Given the description of an element on the screen output the (x, y) to click on. 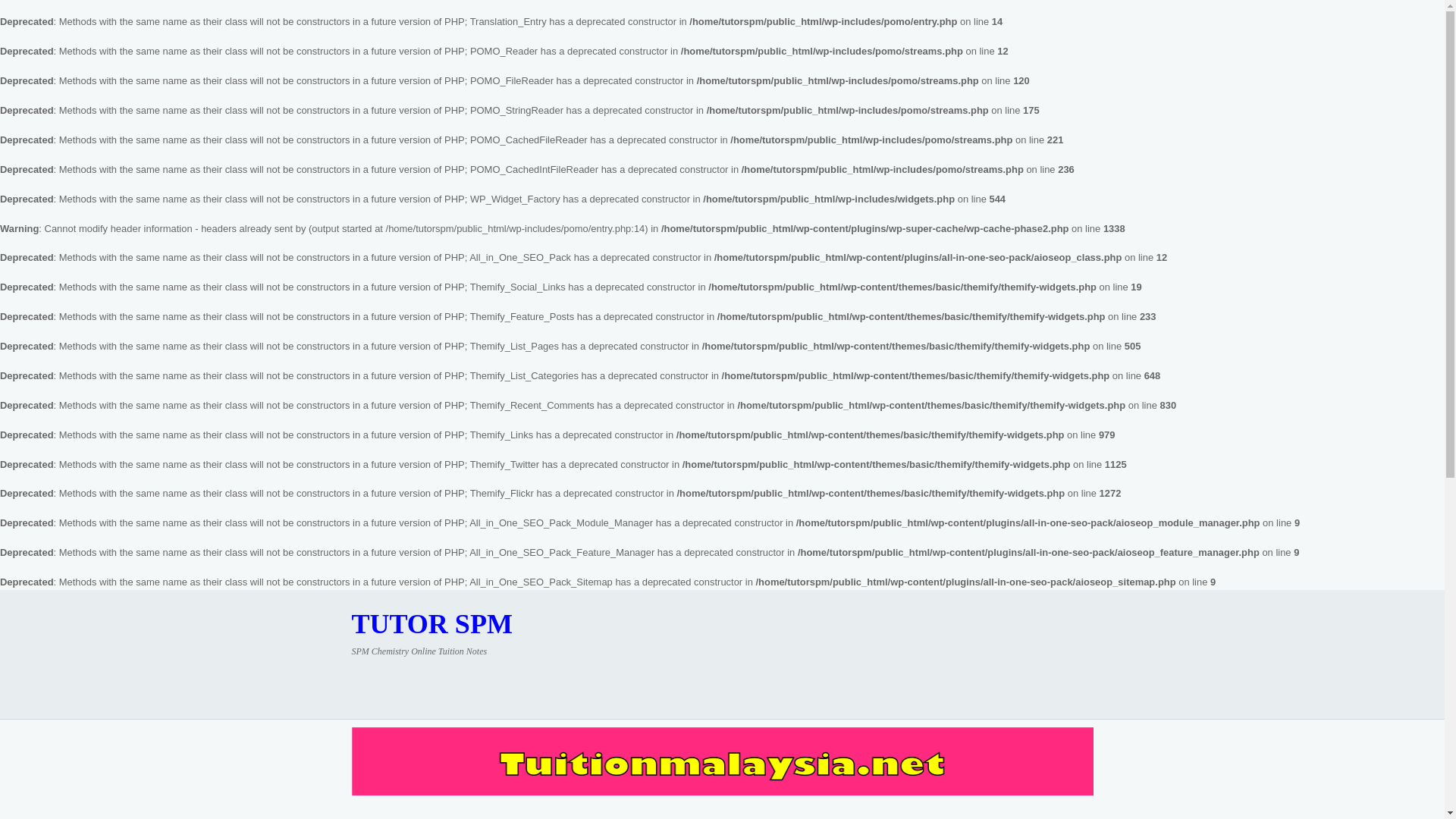
TUTOR SPM (432, 623)
TUTOR SPM (432, 623)
